Given the description of an element on the screen output the (x, y) to click on. 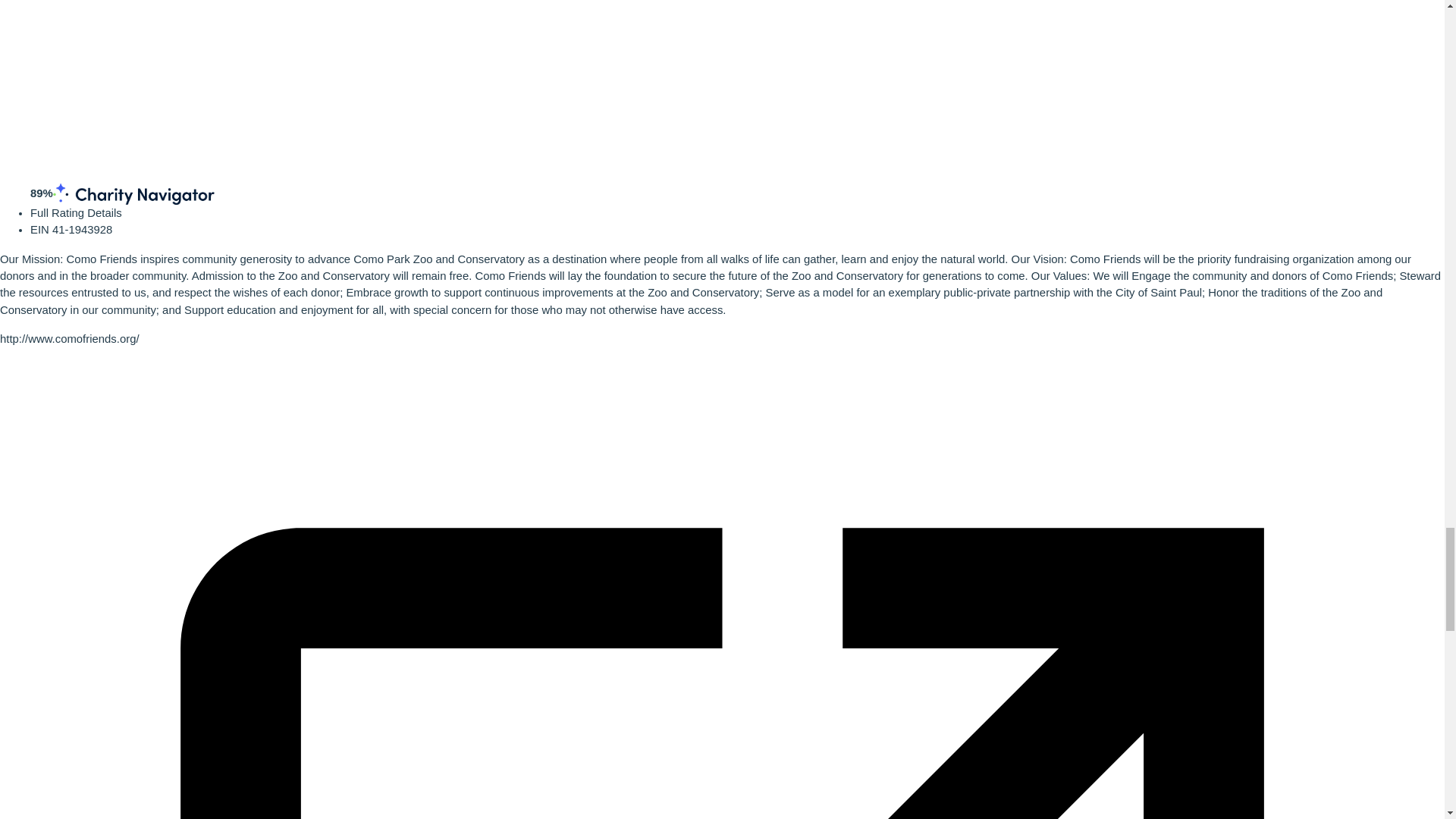
Full Rating Details (76, 213)
